Given the description of an element on the screen output the (x, y) to click on. 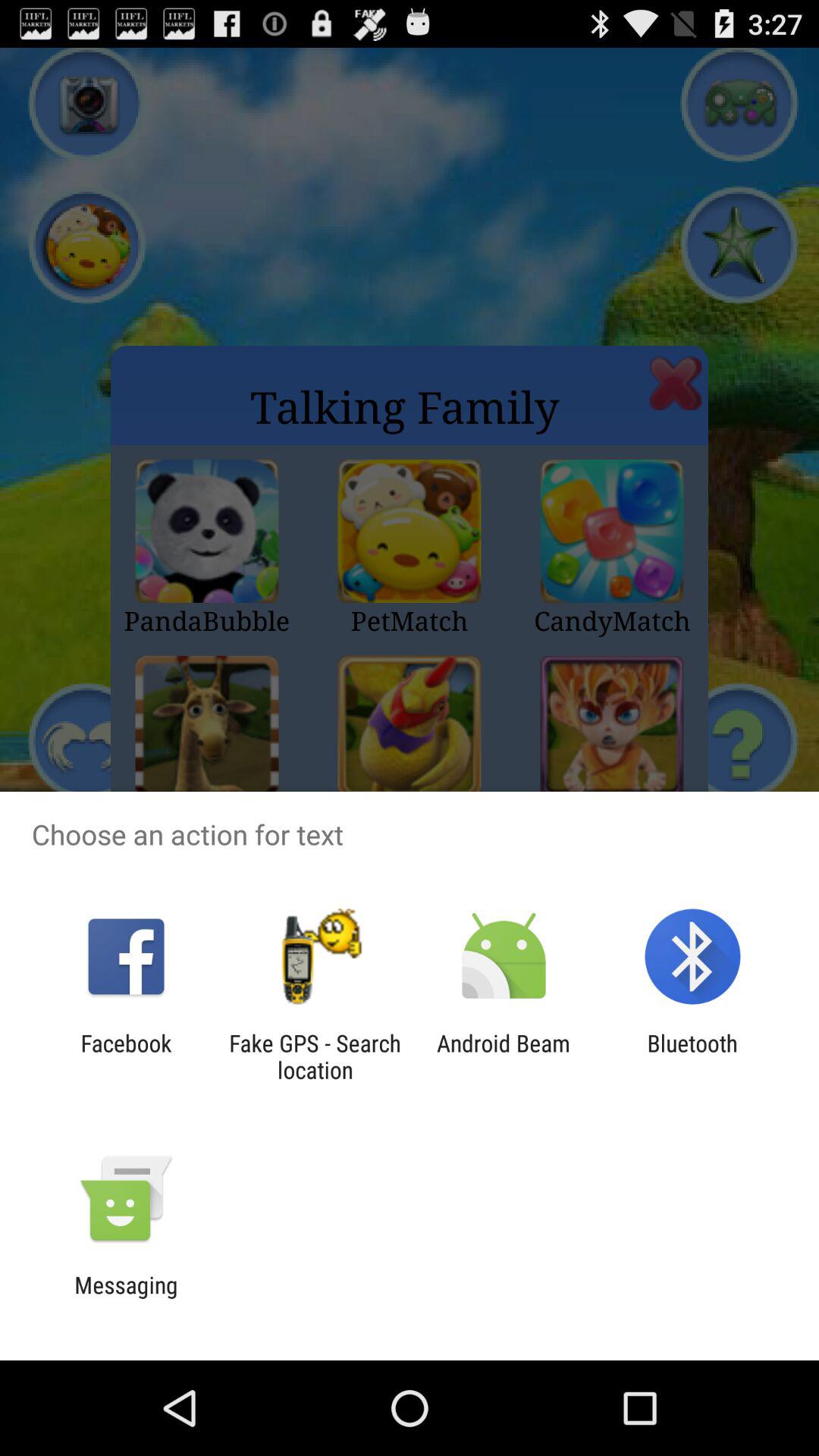
press the app to the left of the fake gps search (125, 1056)
